Given the description of an element on the screen output the (x, y) to click on. 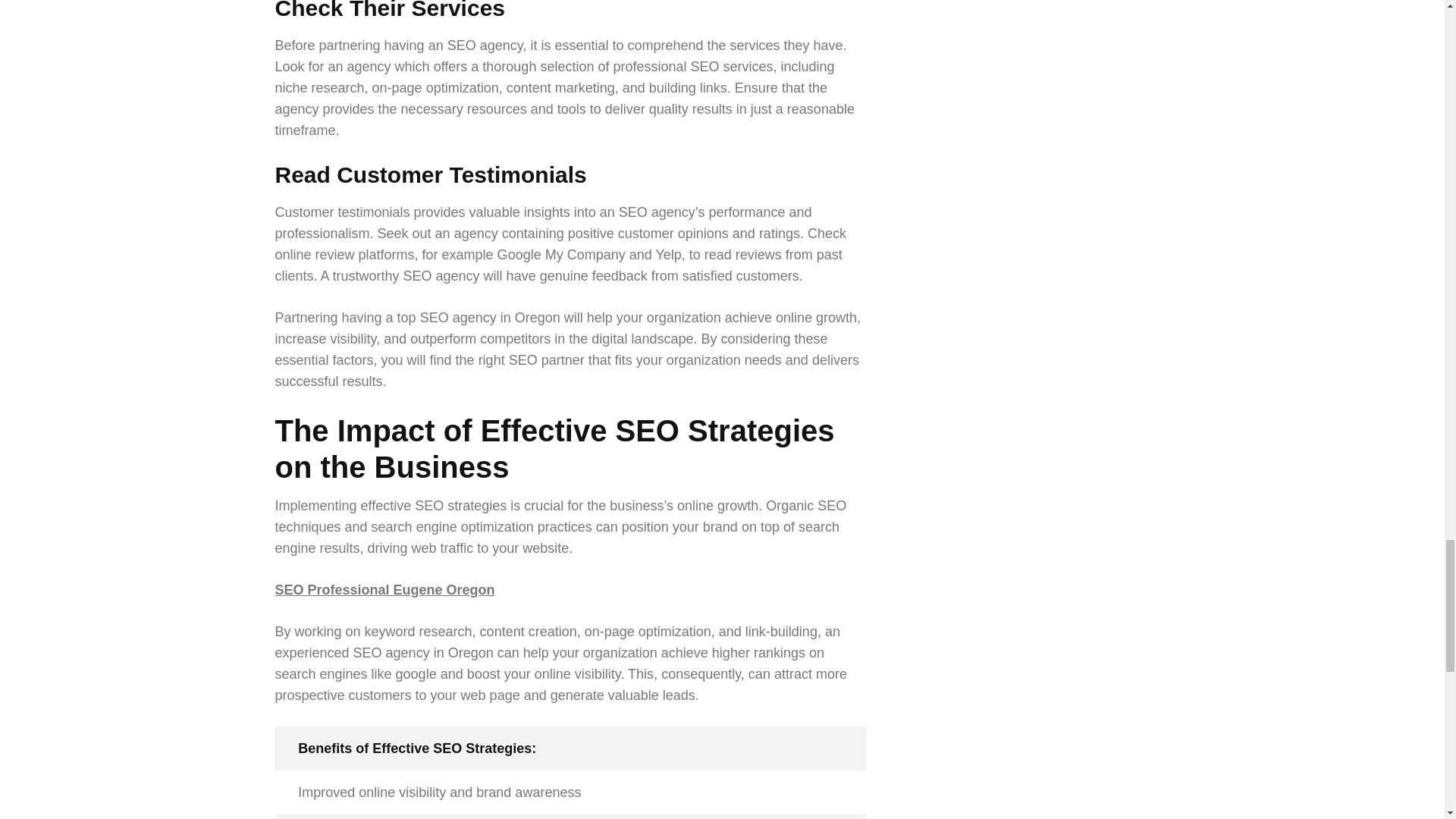
SEO Professional Eugene Oregon (385, 589)
